Given the description of an element on the screen output the (x, y) to click on. 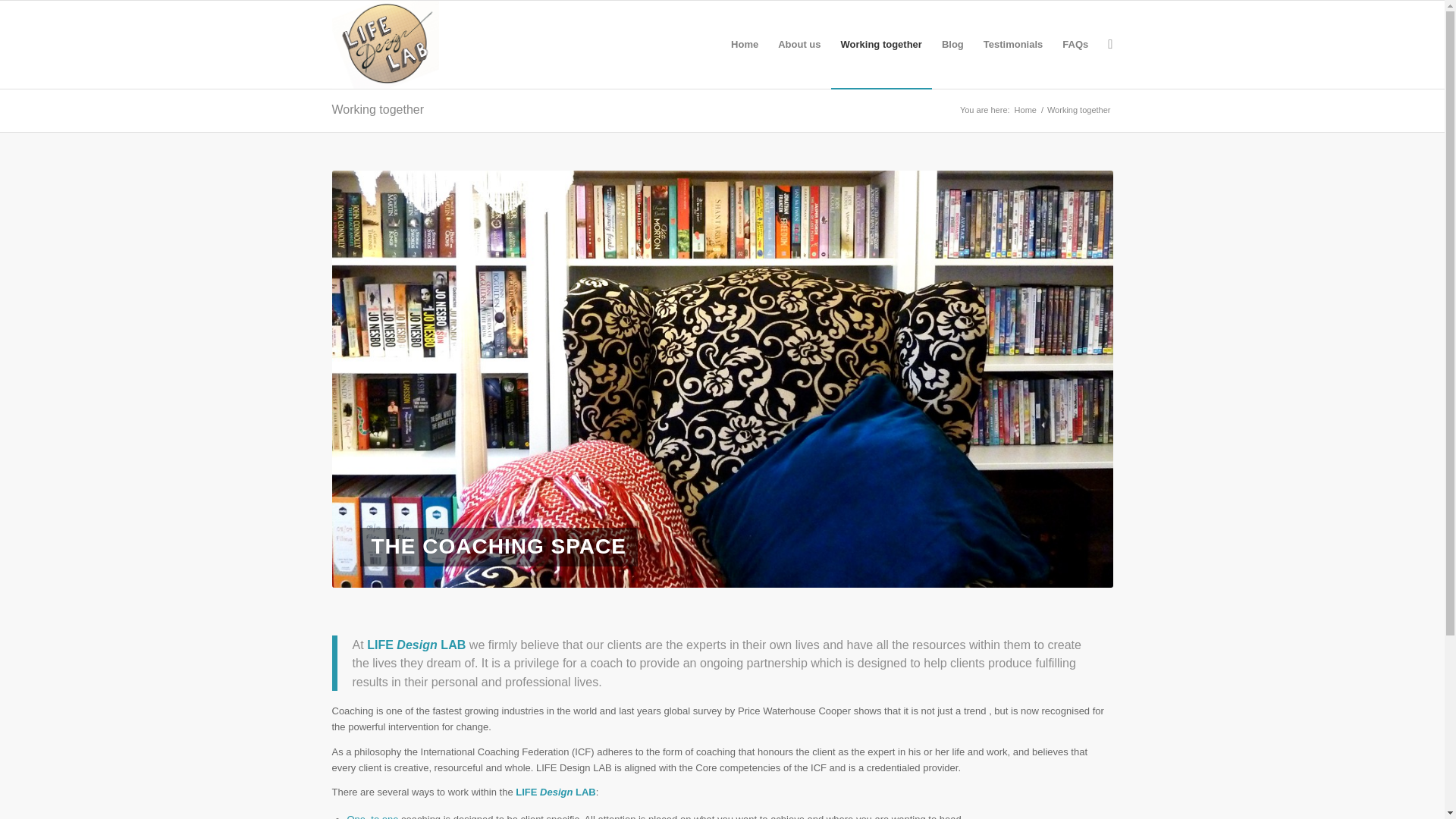
Working together (378, 109)
One  to one (372, 816)
Permanent Link: Working together (378, 109)
LIFE Design LAB (1025, 110)
Home (1025, 110)
One to One (372, 816)
Working together (881, 44)
Testimonials (1013, 44)
